Given the description of an element on the screen output the (x, y) to click on. 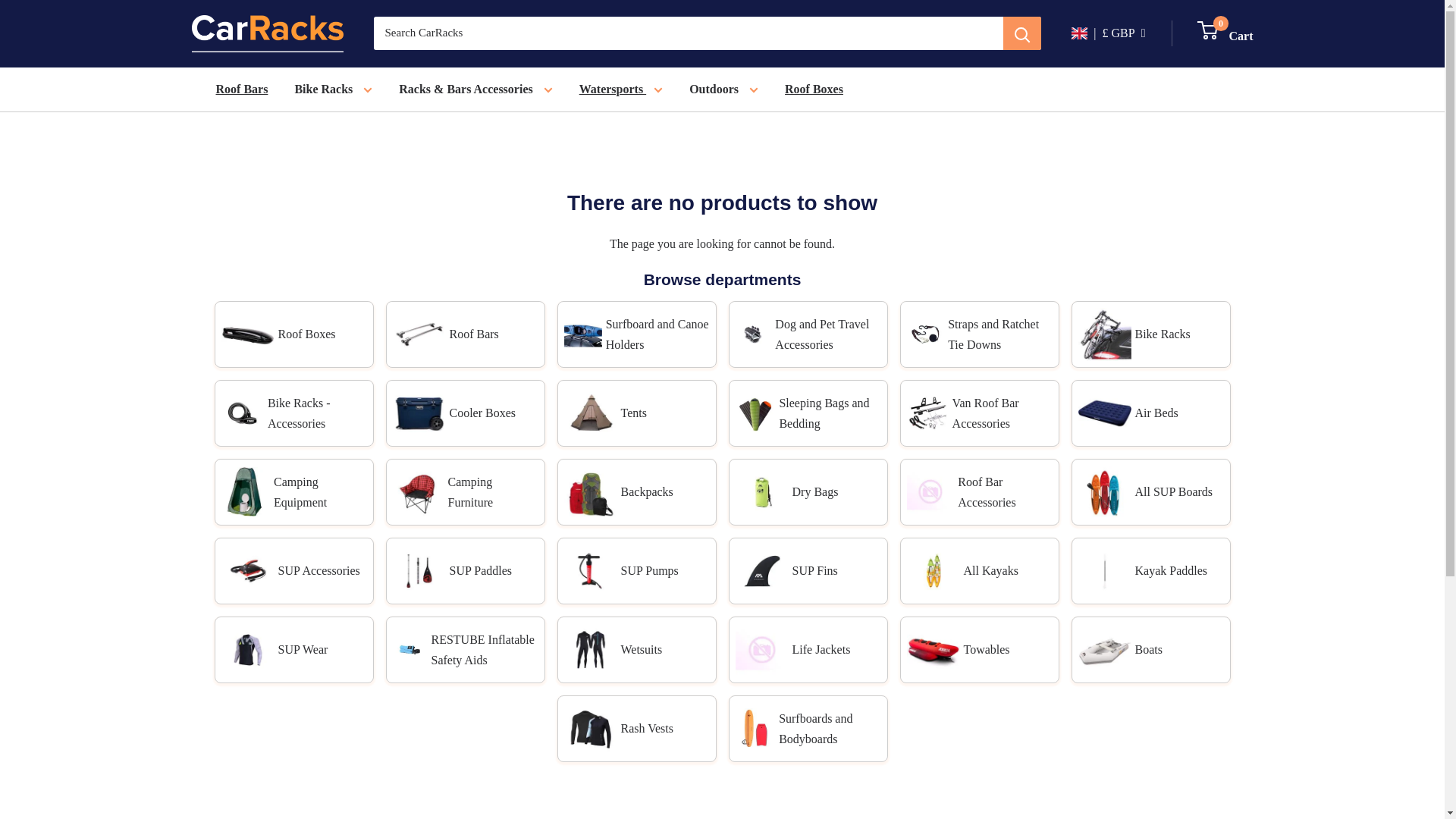
Watersports (620, 89)
Car Racks (1225, 33)
Bike Racks (266, 33)
Outdoors (333, 89)
Roof Bars (723, 89)
